Given the description of an element on the screen output the (x, y) to click on. 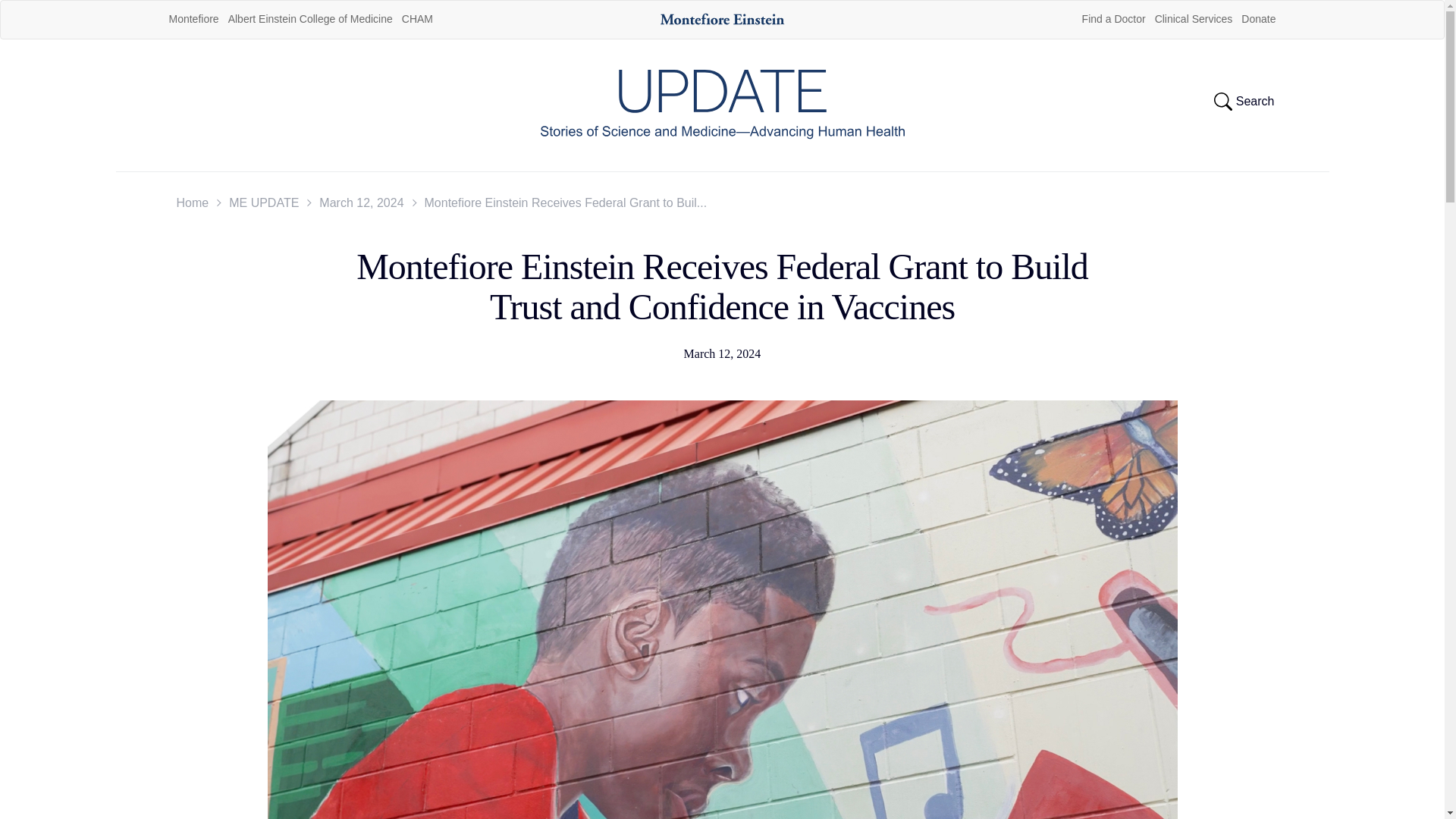
Home (192, 202)
CHAM (417, 18)
Image (721, 19)
Donate (1257, 18)
Montefiore (192, 18)
March 12, 2024 (360, 202)
Search (1244, 101)
ME UPDATE (263, 202)
Clinical Services (1193, 18)
Find a Doctor (1113, 18)
Albert Einstein College of Medicine (310, 18)
